Given the description of an element on the screen output the (x, y) to click on. 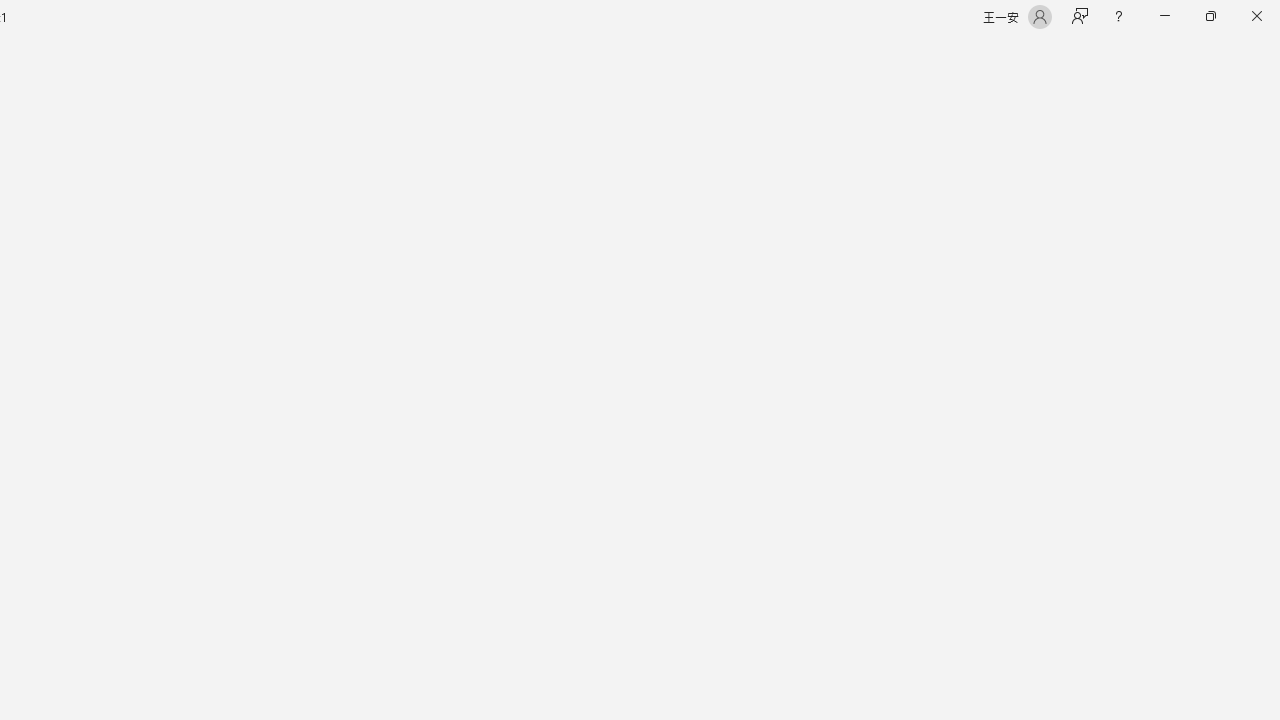
Help (1118, 16)
Close (1256, 16)
Restore Down (1210, 16)
Minimize (1164, 16)
